Given the description of an element on the screen output the (x, y) to click on. 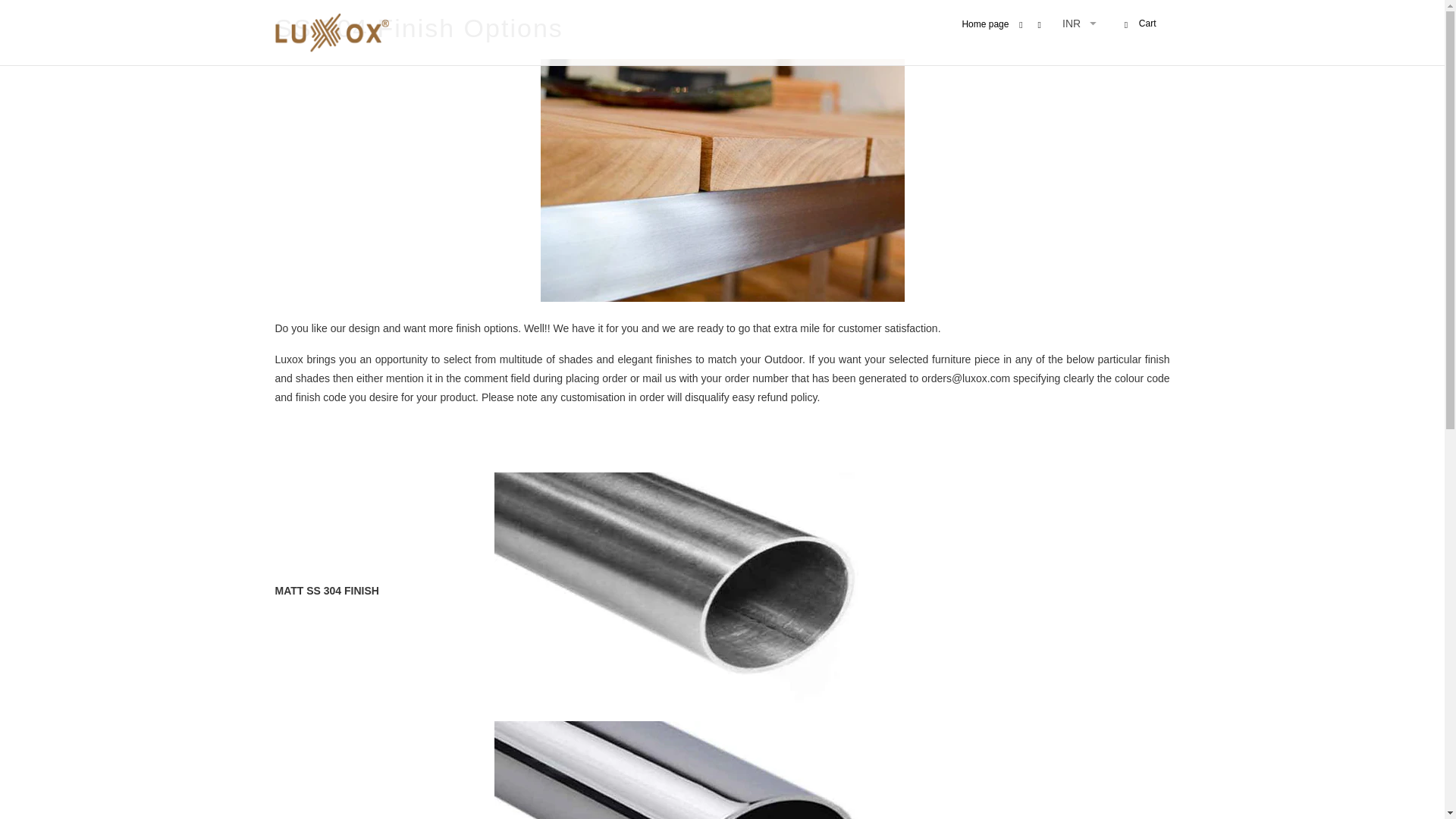
Cart (1138, 24)
Home page (984, 27)
